Given the description of an element on the screen output the (x, y) to click on. 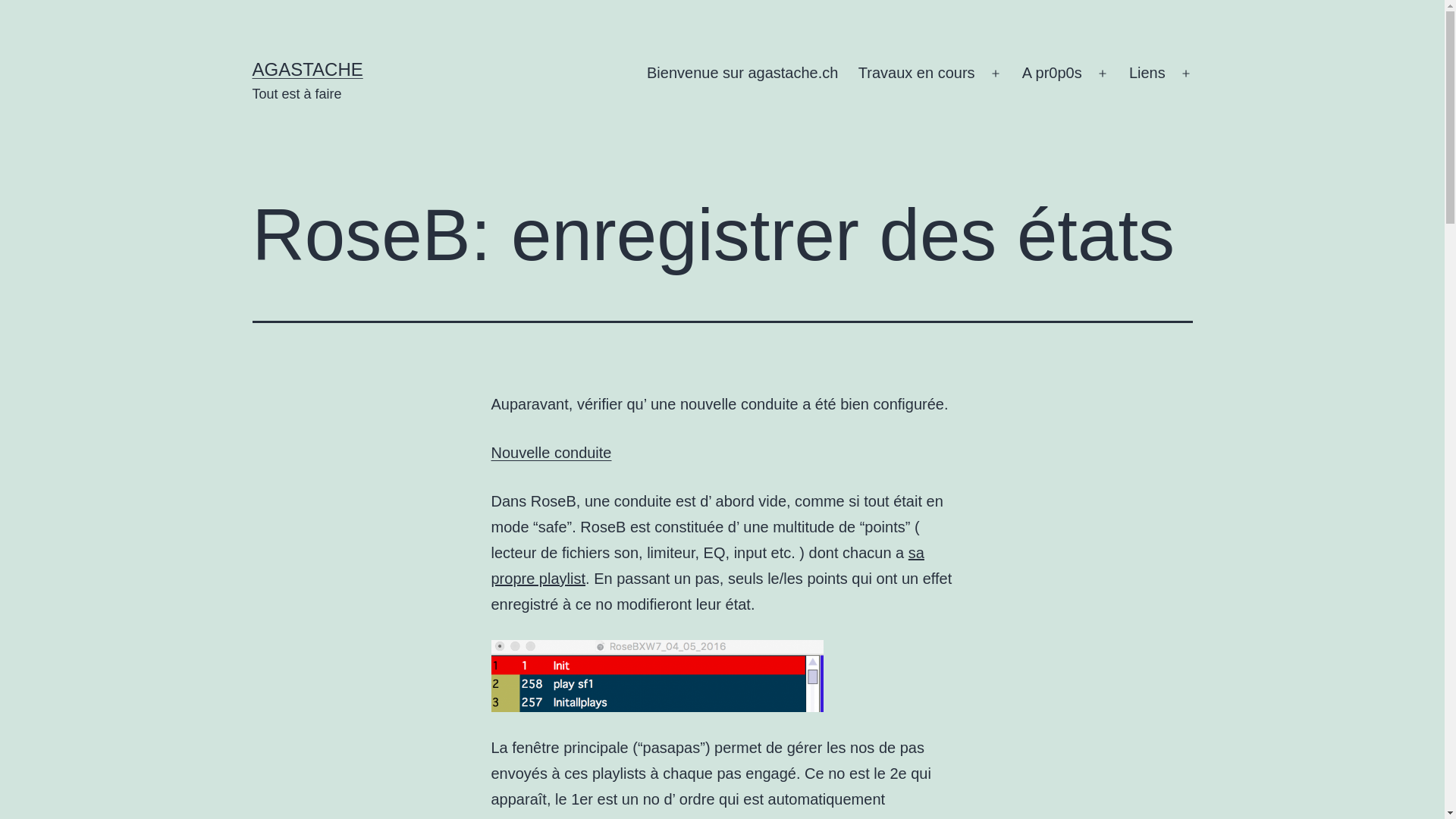
Ouvrir le menu Element type: text (1102, 73)
Travaux en cours Element type: text (916, 73)
Ouvrir le menu Element type: text (995, 73)
Nouvelle conduite Element type: text (551, 452)
AGASTACHE Element type: text (306, 69)
A pr0p0s Element type: text (1052, 73)
Ouvrir le menu Element type: text (1185, 73)
Liens Element type: text (1147, 73)
Bienvenue sur agastache.ch Element type: text (742, 73)
